Given the description of an element on the screen output the (x, y) to click on. 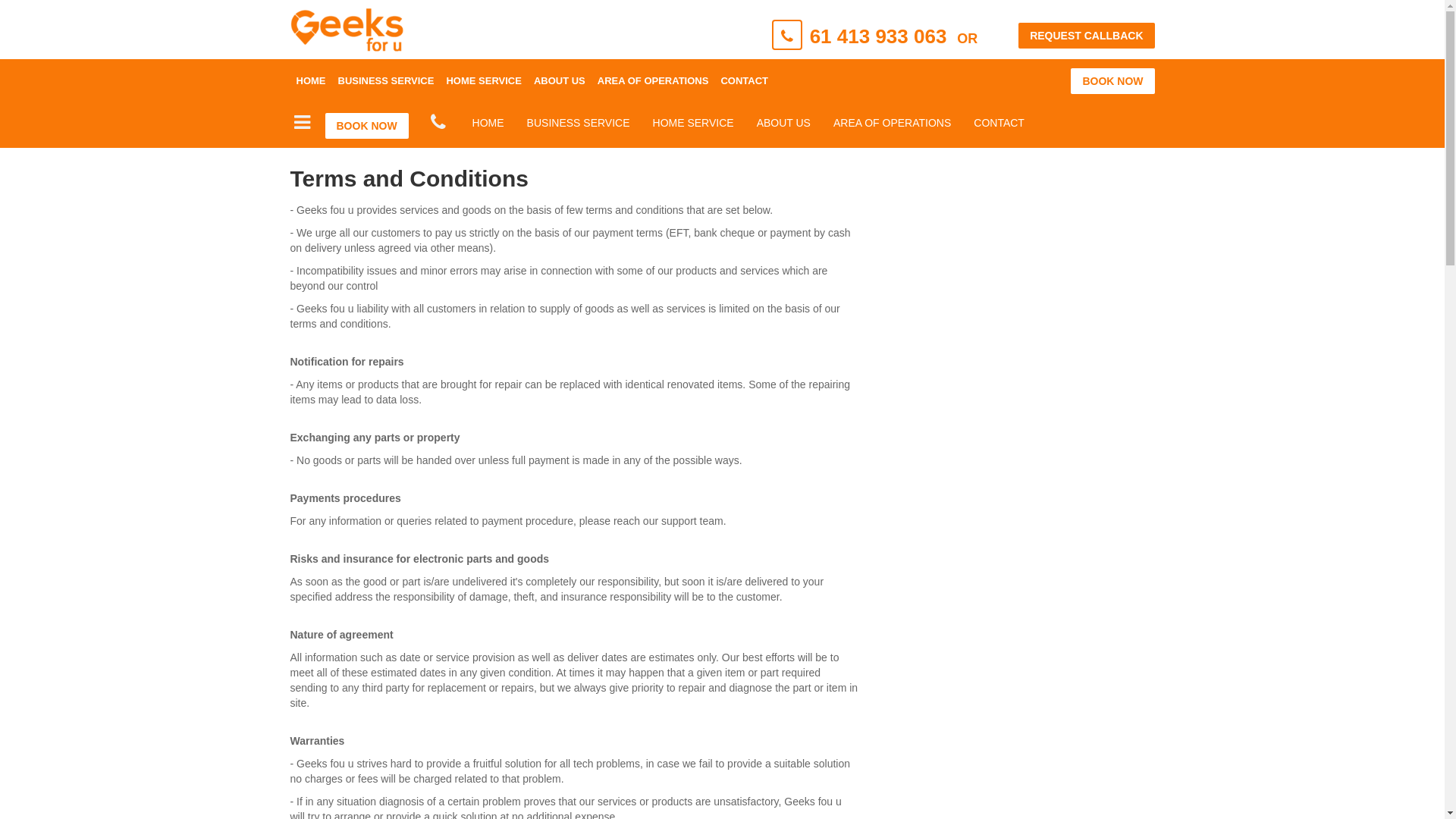
61 413 933 063 Element type: text (878, 36)
HOME SERVICE Element type: text (693, 122)
HOME SERVICE Element type: text (483, 81)
HOME Element type: text (310, 81)
ABOUT US Element type: text (783, 122)
CONTACT Element type: text (744, 81)
AREA OF OPERATIONS Element type: text (892, 122)
BUSINESS SERVICE Element type: text (578, 122)
ABOUT US Element type: text (559, 81)
BOOK NOW Element type: text (365, 125)
REQUEST CALLBACK Element type: text (1086, 35)
HOME Element type: text (488, 122)
BOOK NOW Element type: text (1112, 81)
AREA OF OPERATIONS Element type: text (653, 81)
BUSINESS SERVICE Element type: text (386, 81)
CONTACT Element type: text (998, 122)
Toggle navigation Element type: text (302, 122)
